Given the description of an element on the screen output the (x, y) to click on. 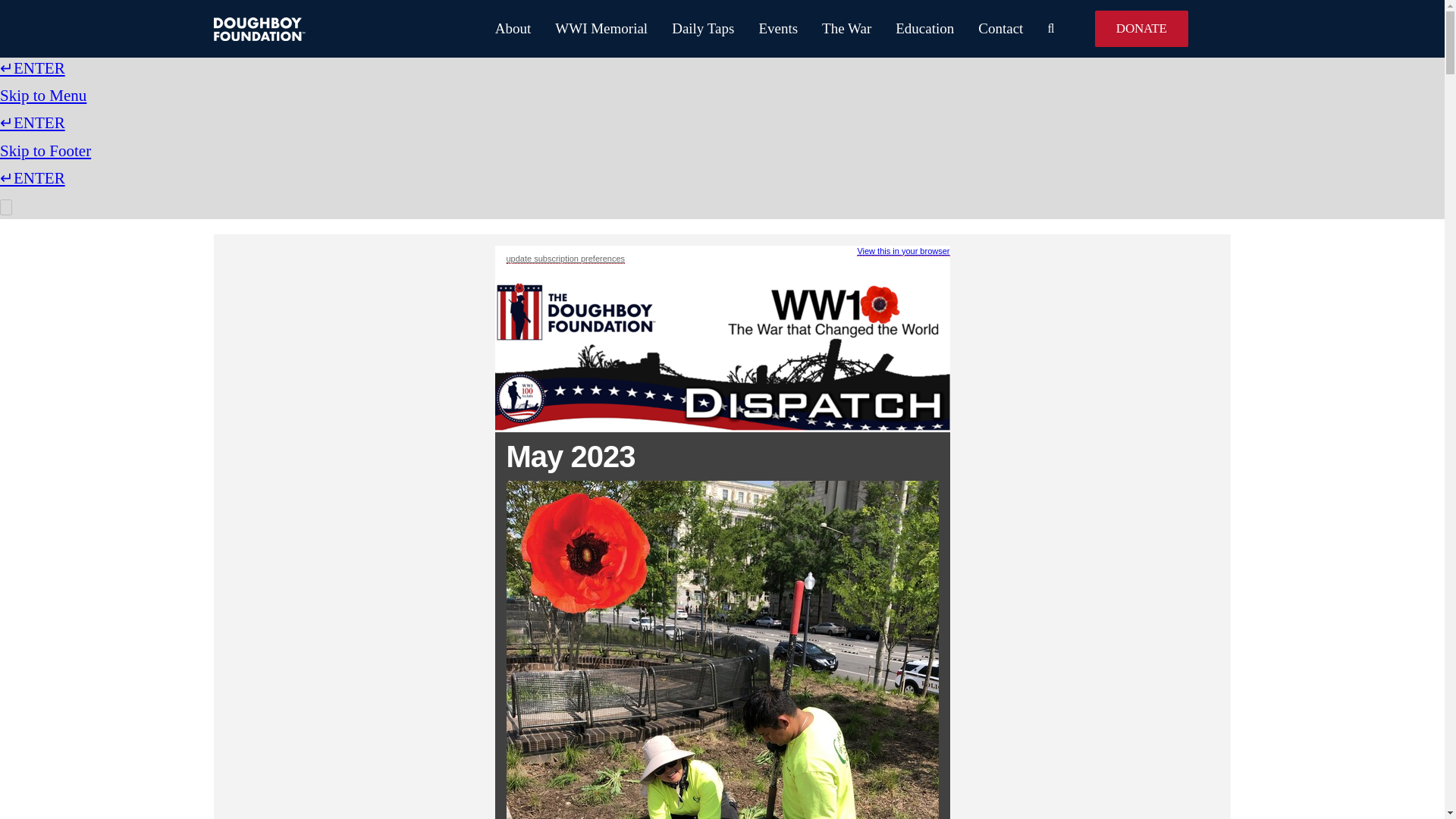
The War (833, 29)
Education (911, 29)
Events (765, 29)
About (500, 29)
Contact (988, 29)
WWI Memorial (589, 29)
Daily Taps (690, 29)
doughboy-logo-white-31h (259, 28)
